Given the description of an element on the screen output the (x, y) to click on. 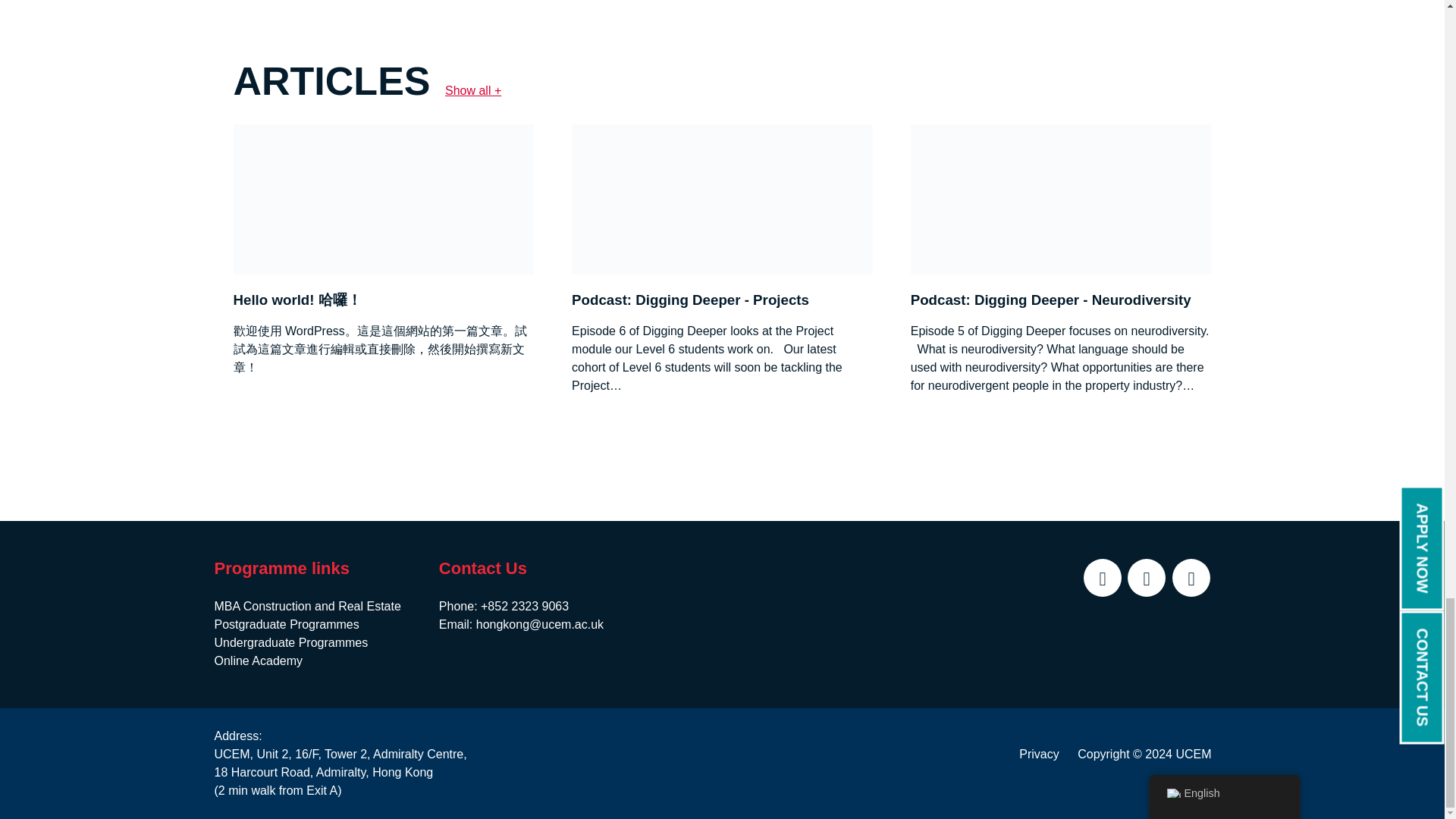
View our YouTube channel (1190, 577)
View our LinkedIn page (1102, 577)
View our Facebook page (1146, 577)
